Given the description of an element on the screen output the (x, y) to click on. 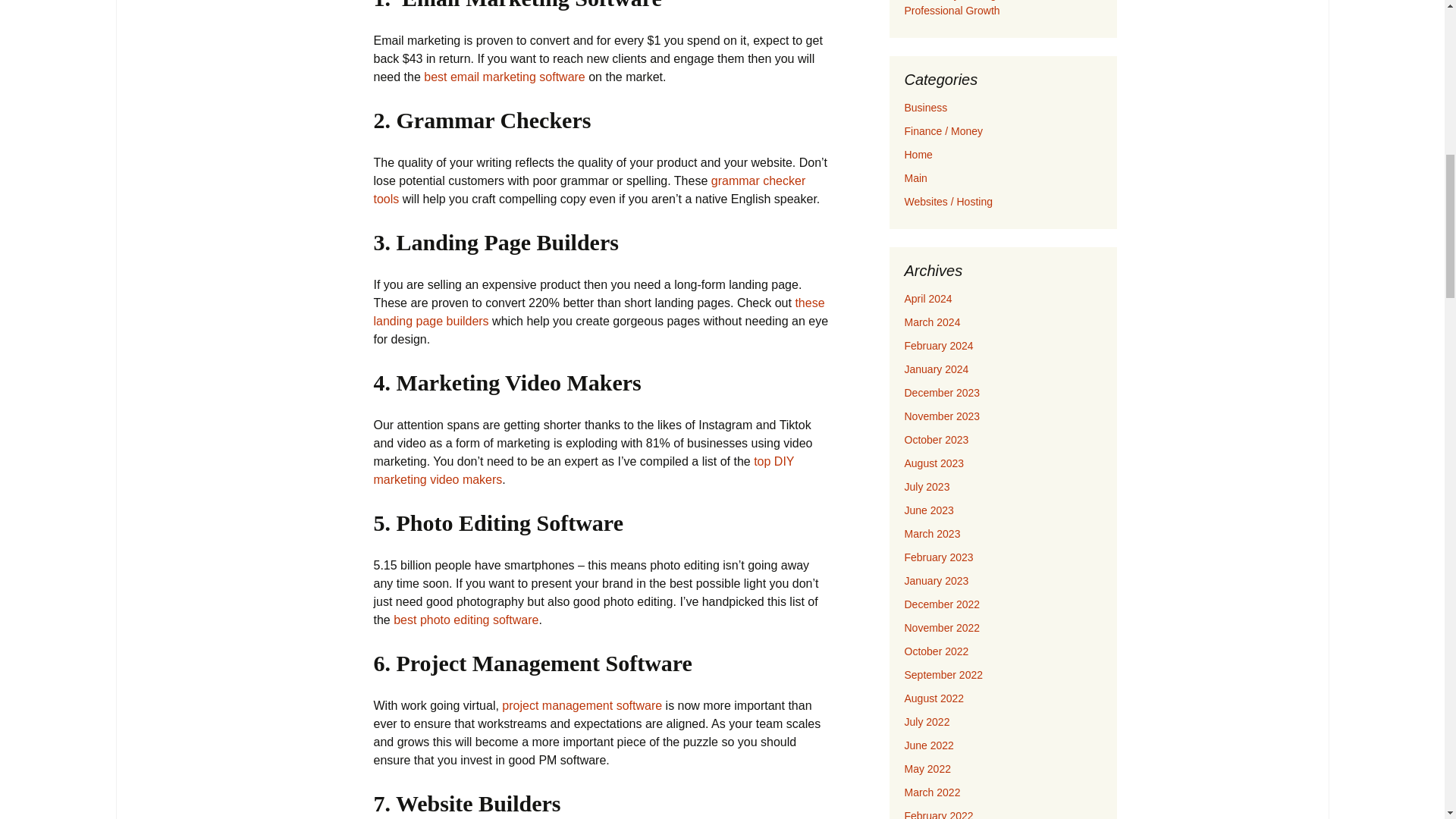
March 2024 (931, 322)
grammar checker tools (588, 189)
Business (925, 107)
best photo editing software (465, 619)
Home (917, 154)
project management software (582, 705)
Productivity Strategies for Personal and Professional Growth (997, 8)
Main (915, 177)
April 2024 (928, 298)
these landing page builders (598, 311)
